Given the description of an element on the screen output the (x, y) to click on. 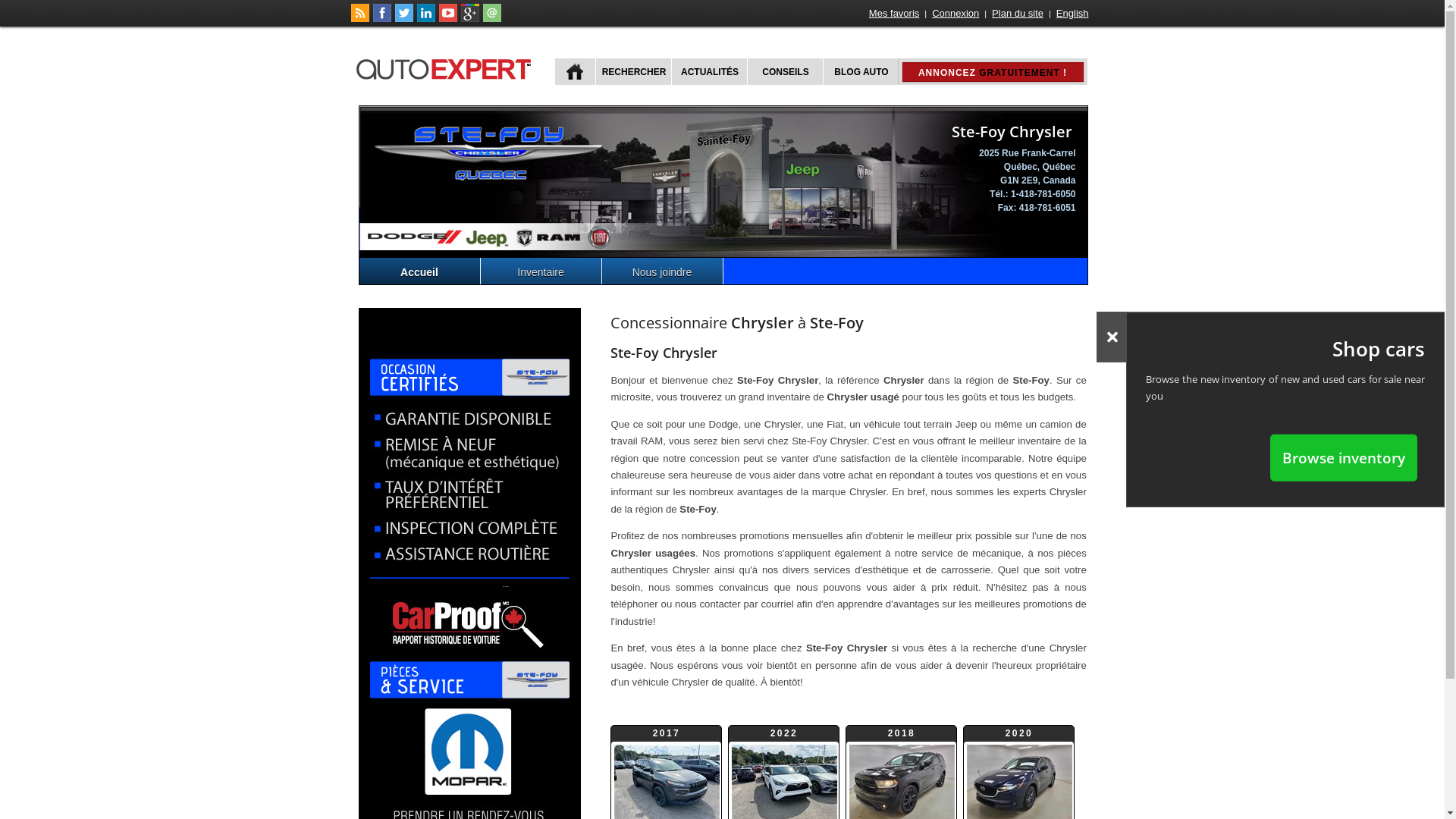
Connexion Element type: text (955, 13)
BLOG AUTO Element type: text (859, 71)
Nous joindre Element type: text (662, 270)
Occasions Element type: hover (469, 467)
ANNONCEZ GRATUITEMENT ! Element type: text (992, 71)
Inventaire Element type: text (541, 270)
RECHERCHER Element type: text (631, 71)
Mes favoris Element type: text (893, 13)
Accueil Element type: text (419, 270)
CONSEILS Element type: text (783, 71)
Suivez Publications Le Guide Inc. sur LinkedIn Element type: hover (426, 18)
Joindre autoExpert.ca Element type: hover (491, 18)
Plan du site Element type: text (1017, 13)
Suivez autoExpert.ca sur Facebook Element type: hover (382, 18)
Suivez autoExpert.ca sur Youtube Element type: hover (447, 18)
English Element type: text (1072, 13)
Suivez autoExpert.ca sur Google Plus Element type: hover (470, 18)
Browse inventory Element type: text (1343, 457)
Suivez autoExpert.ca sur Twitter Element type: hover (403, 18)
ACCUEIL Element type: text (575, 71)
autoExpert.ca Element type: text (446, 66)
